Given the description of an element on the screen output the (x, y) to click on. 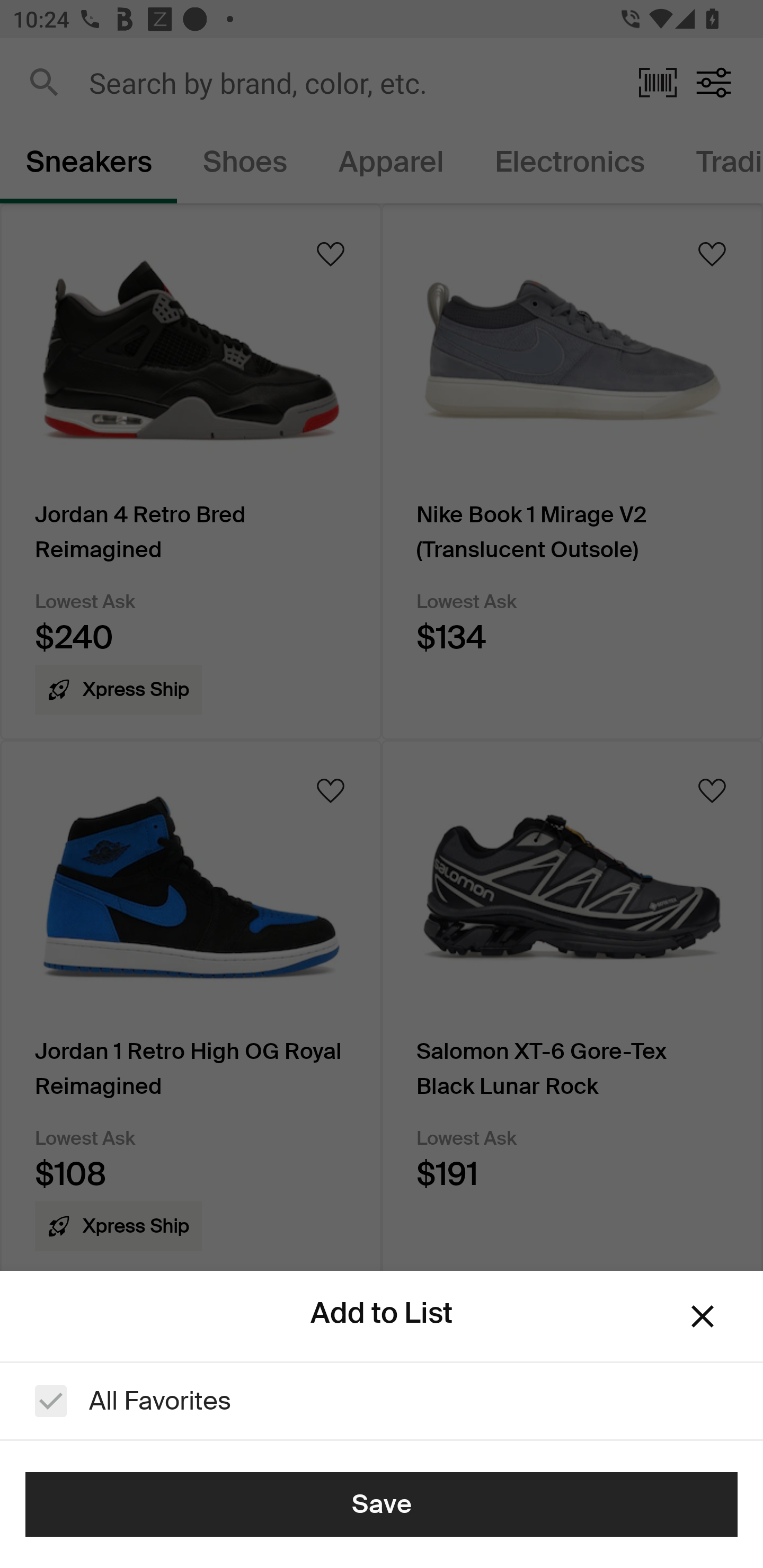
Dismiss (702, 1315)
All Favorites (381, 1400)
Save (381, 1504)
